Given the description of an element on the screen output the (x, y) to click on. 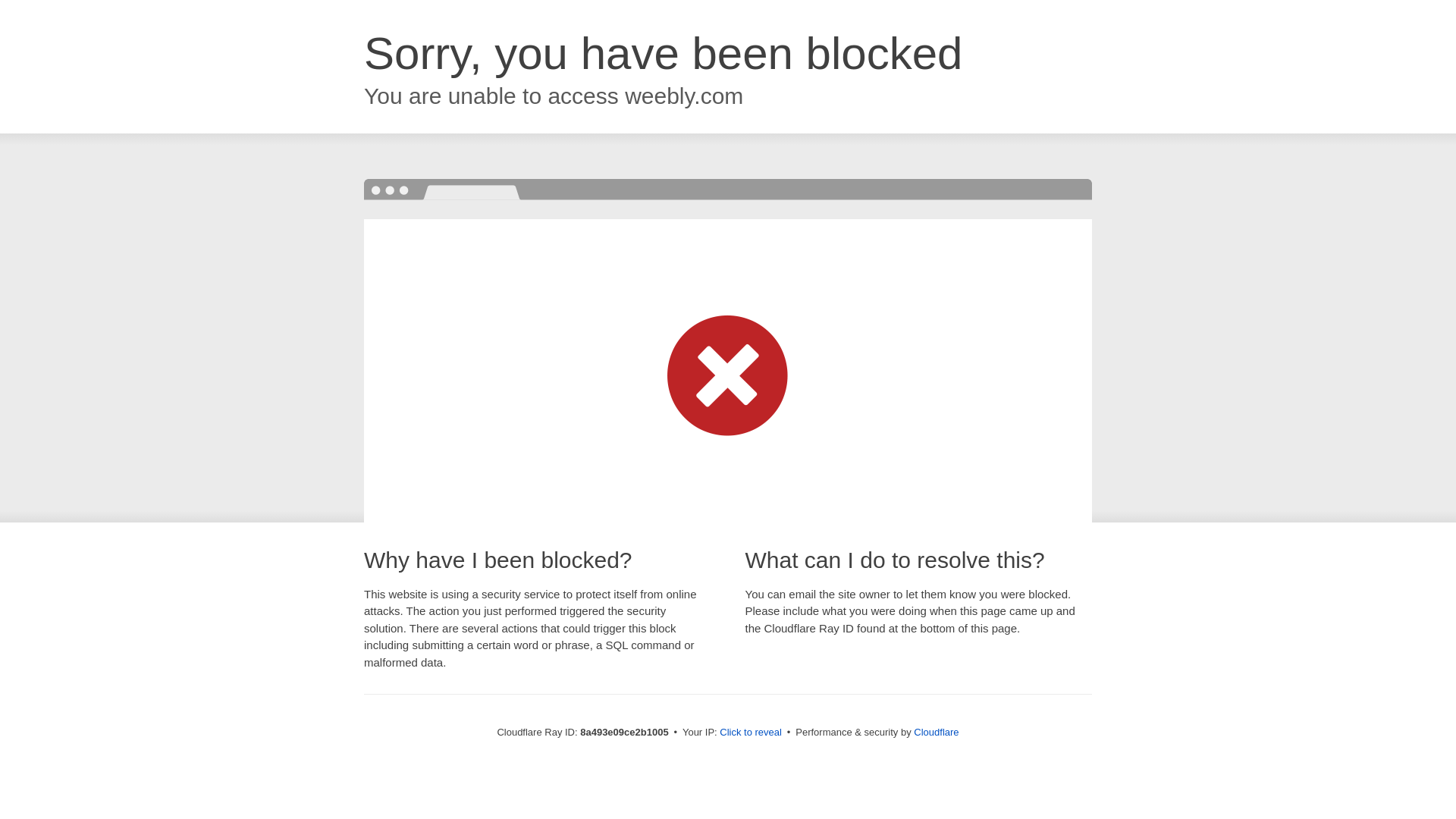
Cloudflare (936, 731)
Click to reveal (750, 732)
